Given the description of an element on the screen output the (x, y) to click on. 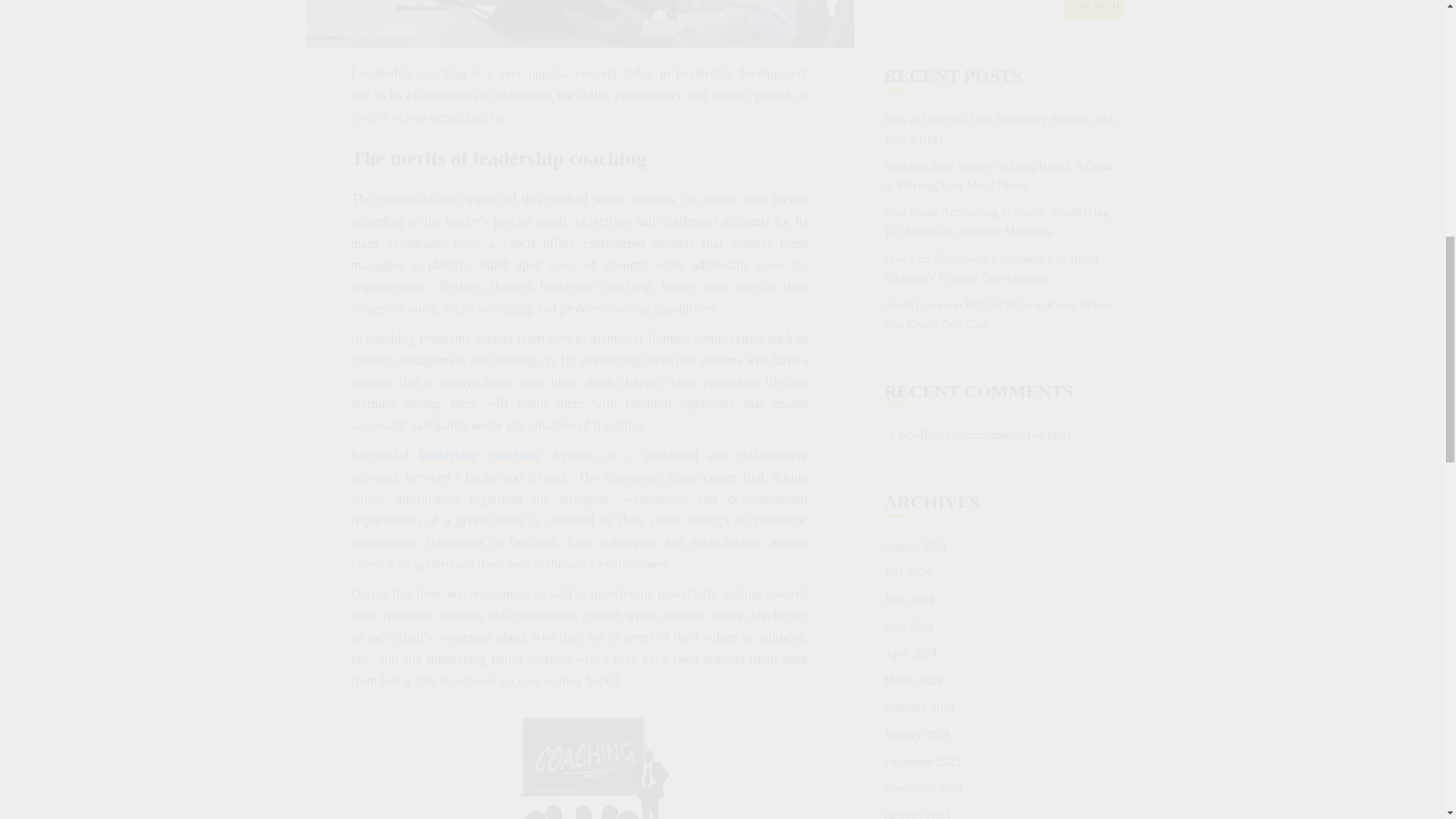
May 2024 (908, 267)
July 2024 (907, 213)
August 2024 (914, 186)
leadership coaching (479, 455)
June 2024 (908, 240)
A WordPress Commenter (948, 75)
